Given the description of an element on the screen output the (x, y) to click on. 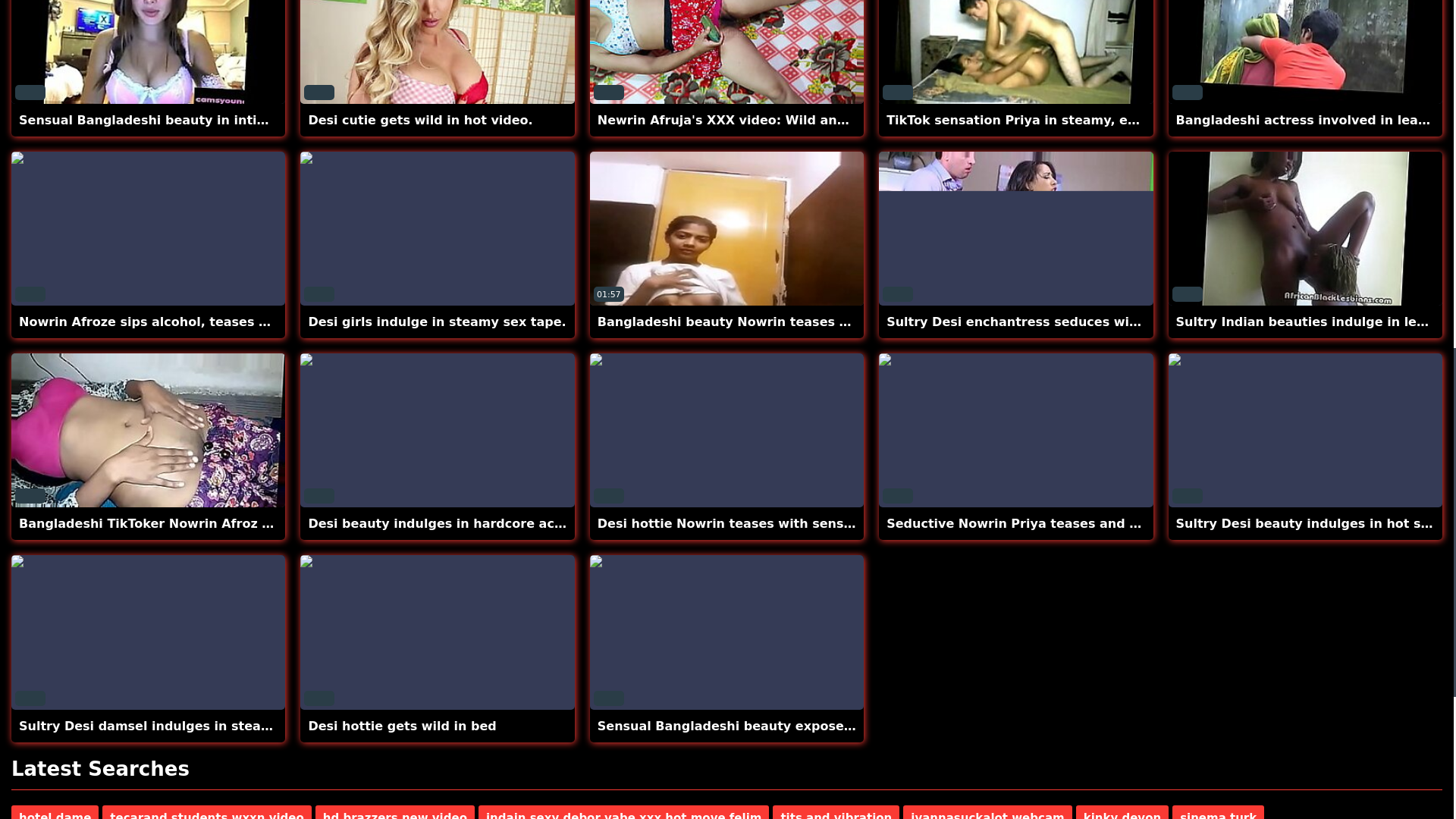
Sensual Bangladeshi beauty in intimate video (175, 120)
Desi cutie gets wild in hot video. (419, 120)
Newrin Afruja's XXX video: Wild and steamy action. (773, 120)
Newrin Afruja's XXX video: Wild and steamy action. (773, 120)
Newrin Afruja's XXX video: Wild and steamy action. (726, 52)
Sultry Desi enchantress seduces with sensuality. (1053, 321)
Sensual Bangladeshi beauty in intimate video (148, 52)
Desi girls indulge in steamy sex tape. (436, 321)
01:57 (726, 228)
Desi cutie gets wild in hot video. (436, 52)
Sensual Bangladeshi beauty in intimate video (175, 120)
Desi cutie gets wild in hot video. (419, 120)
